Given the description of an element on the screen output the (x, y) to click on. 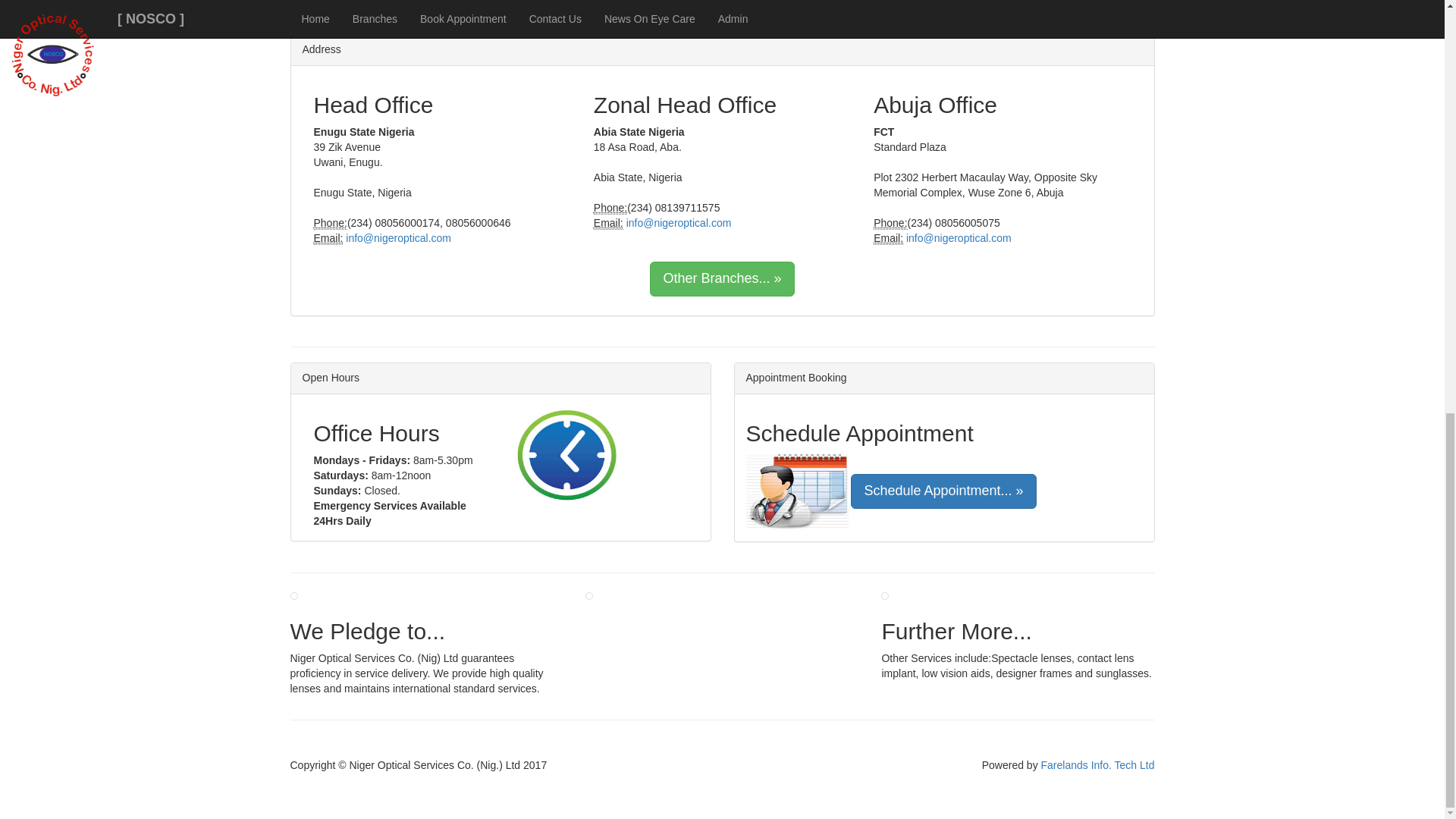
Phone (610, 207)
Email (328, 237)
Email (887, 237)
Phone (330, 223)
Email (608, 223)
Phone (890, 223)
Farelands Info. Tech Ltd (1097, 765)
